Given the description of an element on the screen output the (x, y) to click on. 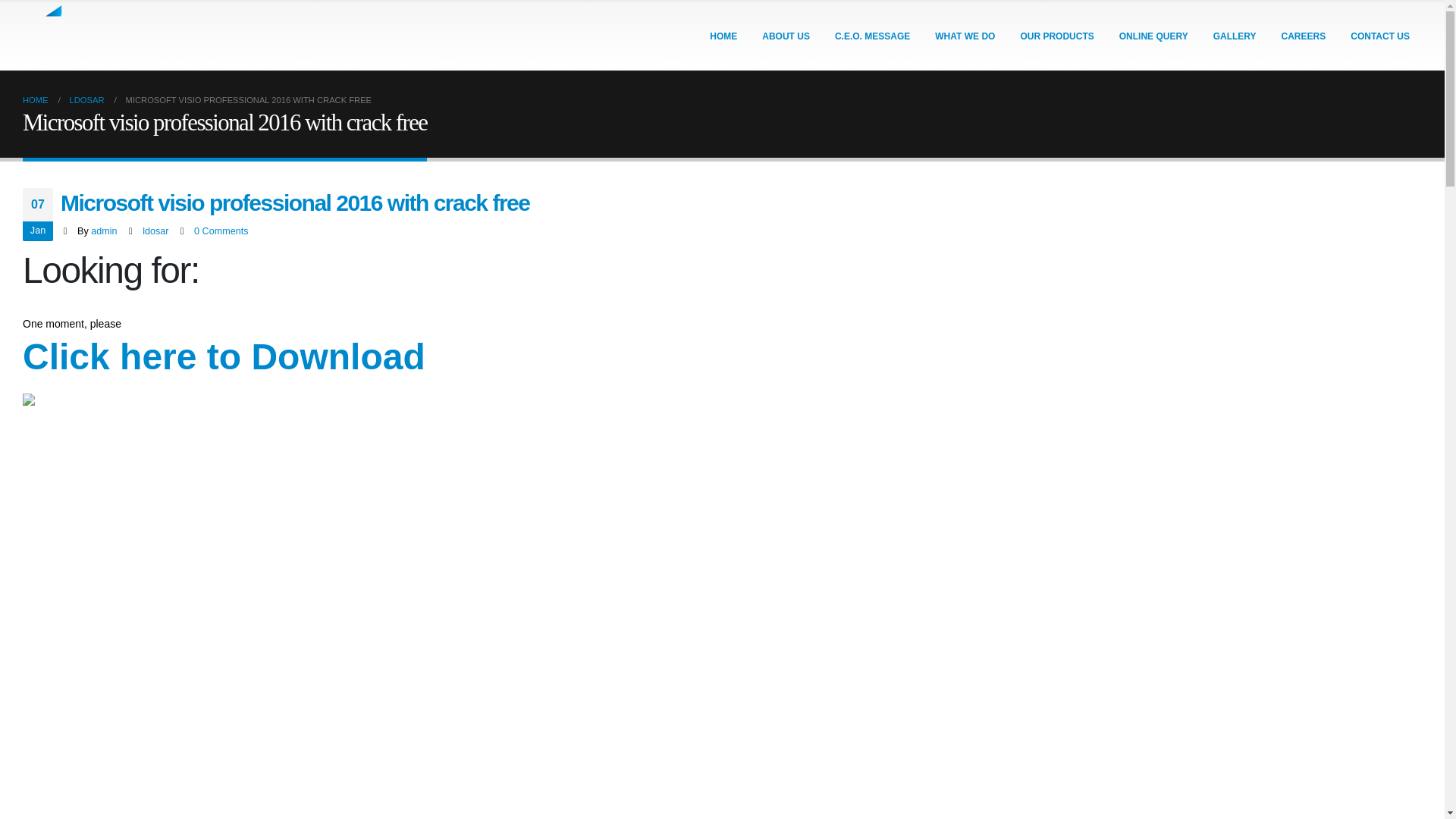
CAREERS (1303, 36)
HOME (723, 36)
ldosar (155, 231)
0 Comments (220, 231)
HOME (35, 99)
CONTACT US (1380, 36)
WHAT WE DO (965, 36)
Go to Home Page (35, 99)
C.E.O. MESSAGE (871, 36)
ONLINE QUERY (1152, 36)
